Given the description of an element on the screen output the (x, y) to click on. 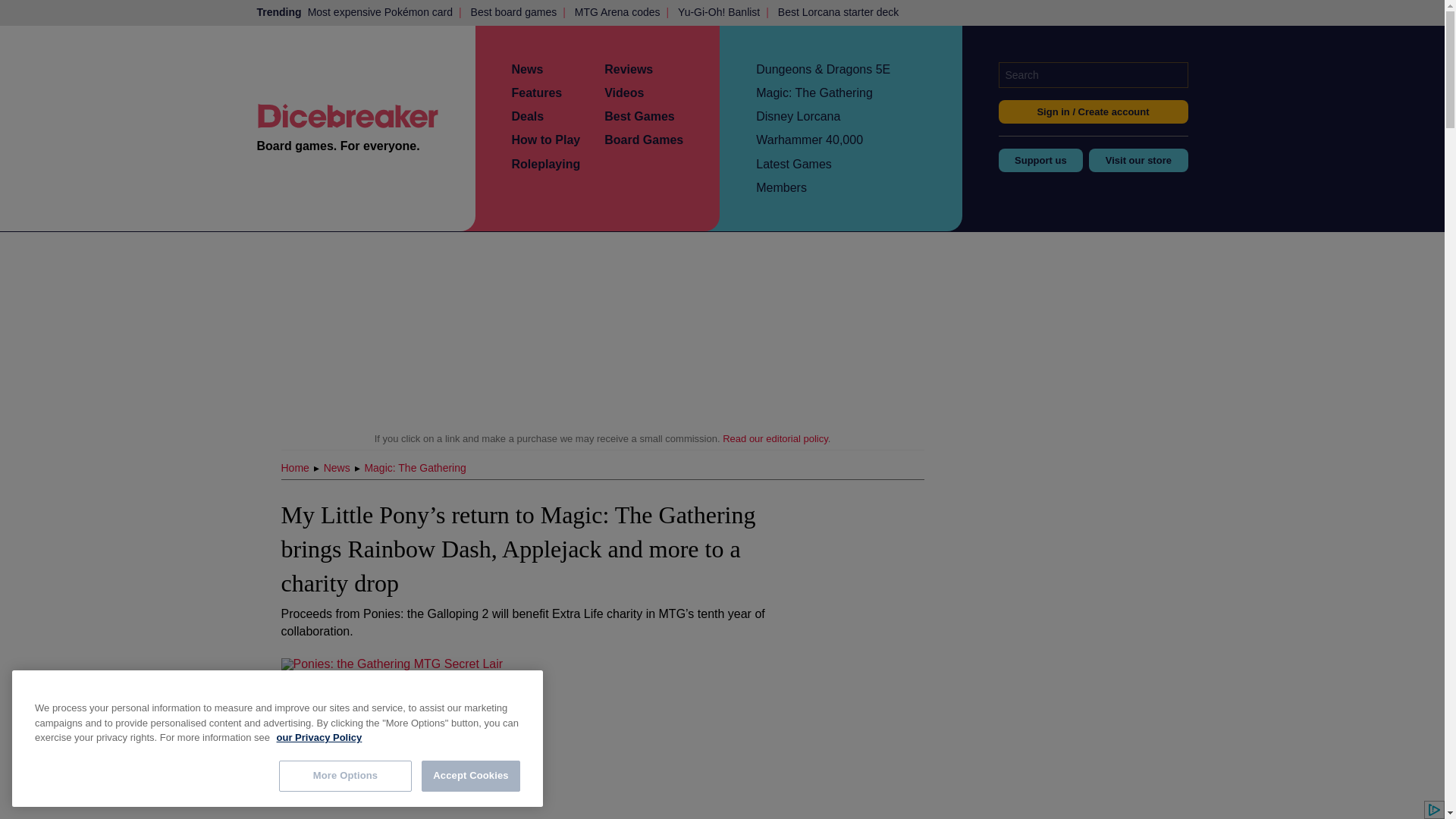
News (527, 69)
Warhammer 40,000 (809, 139)
News (527, 69)
Warhammer 40,000 (809, 139)
Best board games (513, 12)
Best Games (639, 115)
Members (780, 187)
MTG Arena codes (617, 12)
Support us (1040, 159)
Visit our store (1138, 159)
